Given the description of an element on the screen output the (x, y) to click on. 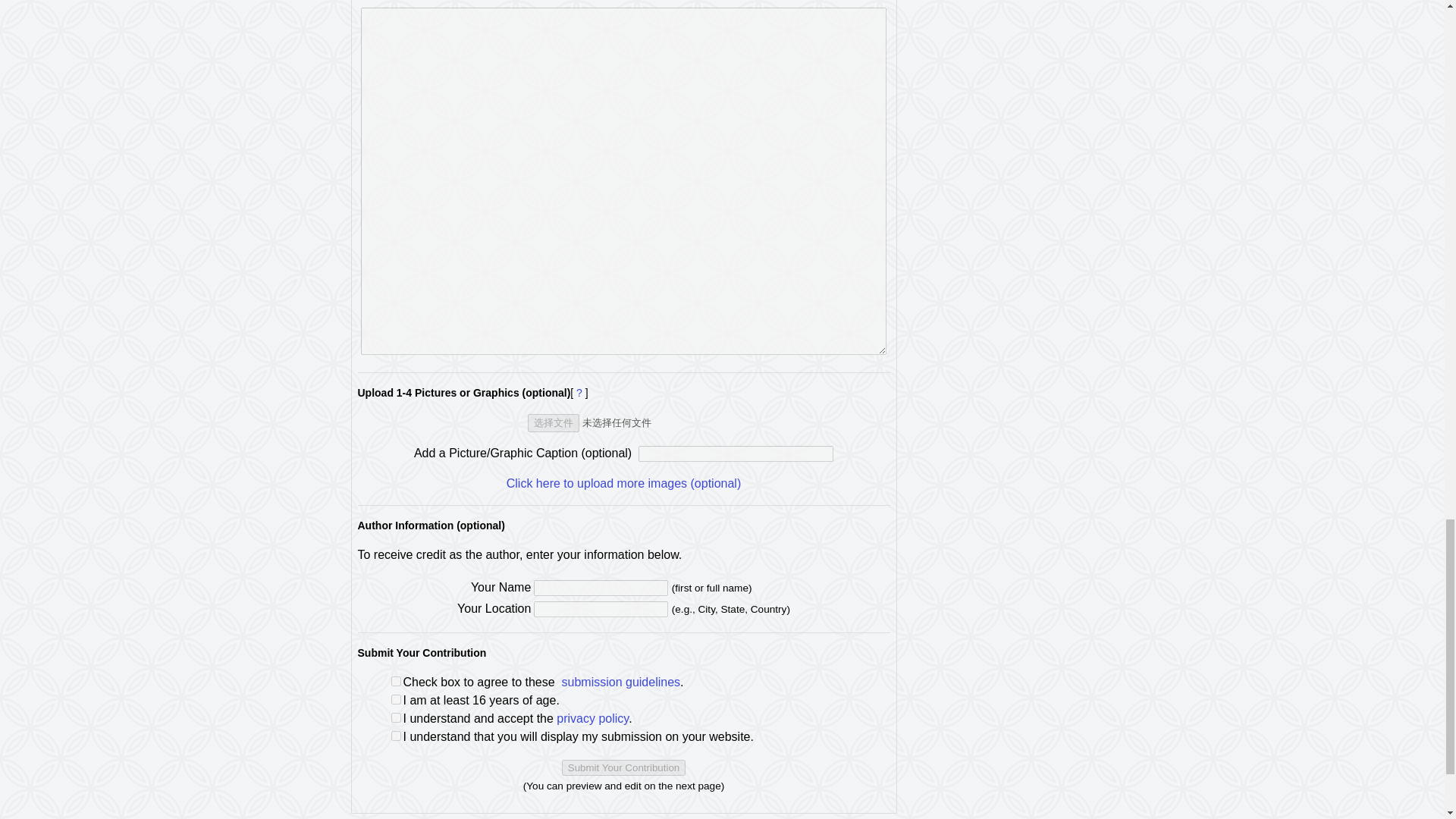
1 (396, 736)
1 (396, 717)
1 (396, 699)
Submit Your Contribution (623, 767)
checkbox (396, 681)
